Given the description of an element on the screen output the (x, y) to click on. 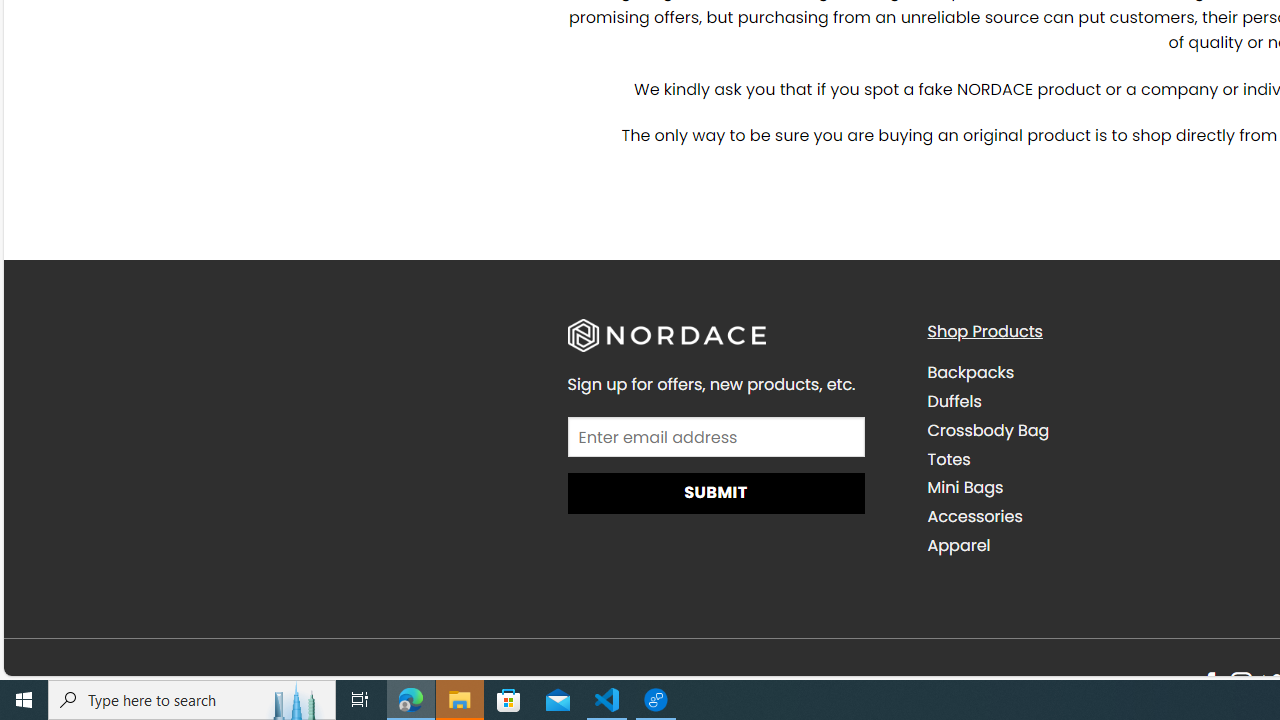
Crossbody Bag (987, 430)
AutomationID: input_4_1 (716, 436)
Duffels (953, 400)
AutomationID: field_4_1 (716, 438)
